Given the description of an element on the screen output the (x, y) to click on. 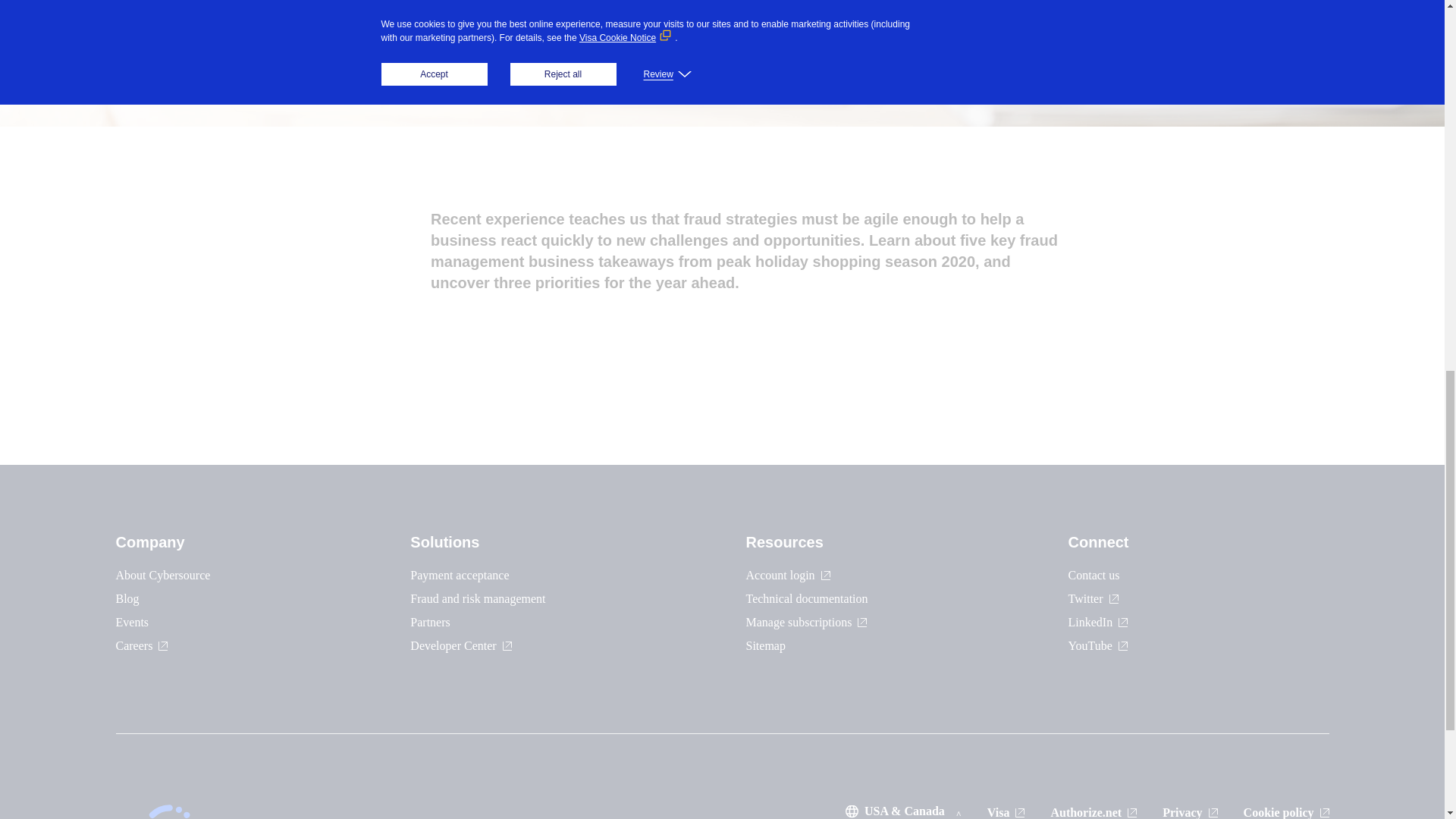
About Cybersource (162, 574)
Careers (141, 645)
Technical documentation (806, 598)
Partners (429, 621)
YouTube (1097, 645)
Twitter (1093, 598)
Events (131, 621)
Contact us (1093, 574)
LinkedIn (1098, 621)
Manage subscriptions (806, 621)
Fraud and risk management (477, 598)
Account login (787, 574)
Sitemap (765, 645)
Blog (126, 598)
Payment acceptance (459, 574)
